Given the description of an element on the screen output the (x, y) to click on. 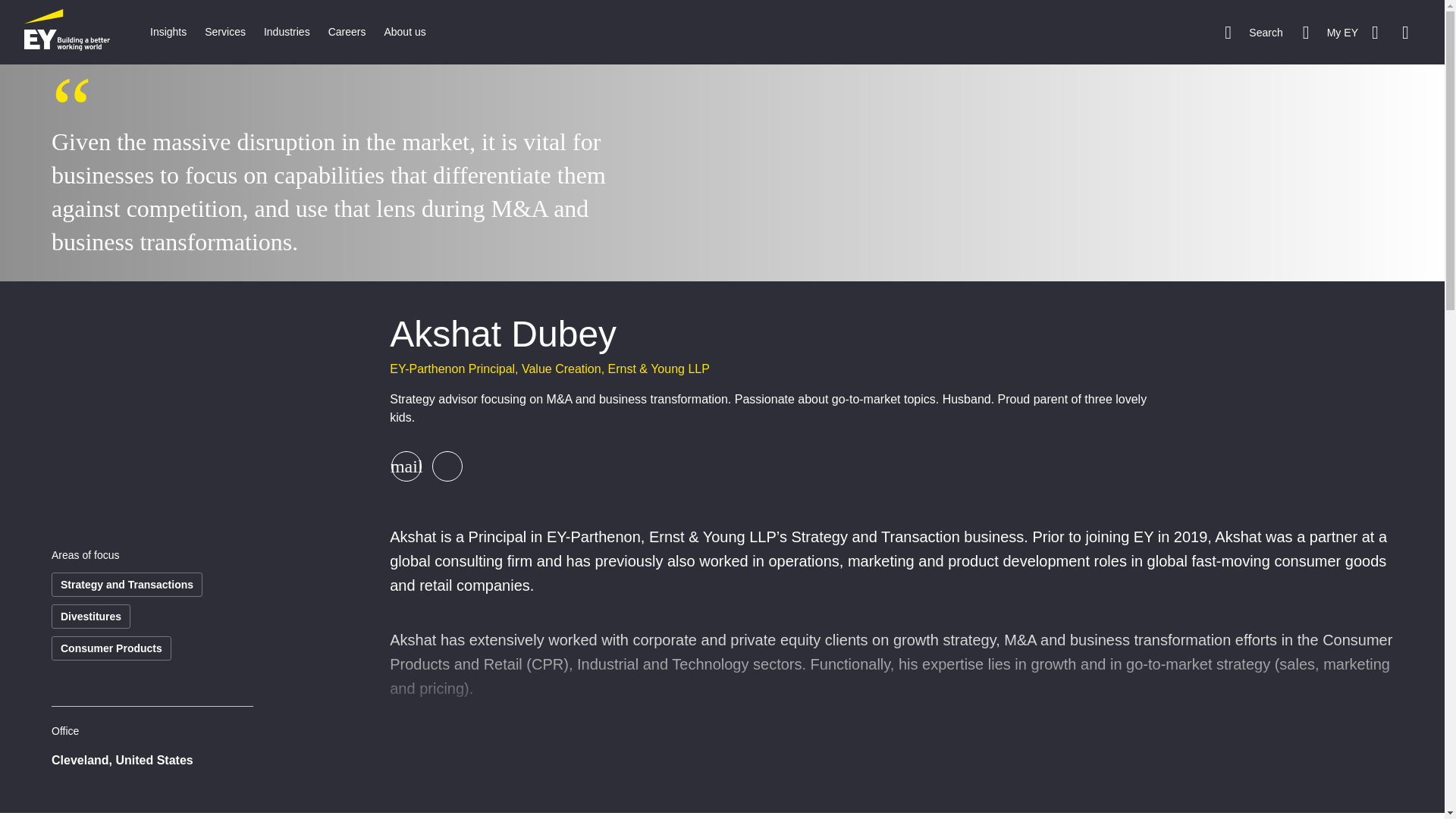
Open search (1253, 32)
EY Logo (67, 32)
Send e-mail to Akshat Dubey (406, 466)
Open LinkedIn profile of Akshat Dubey (447, 466)
Open country language switcher (1394, 32)
Insights (168, 32)
EY Logo (67, 32)
My EY (1329, 32)
Services (224, 32)
